Given the description of an element on the screen output the (x, y) to click on. 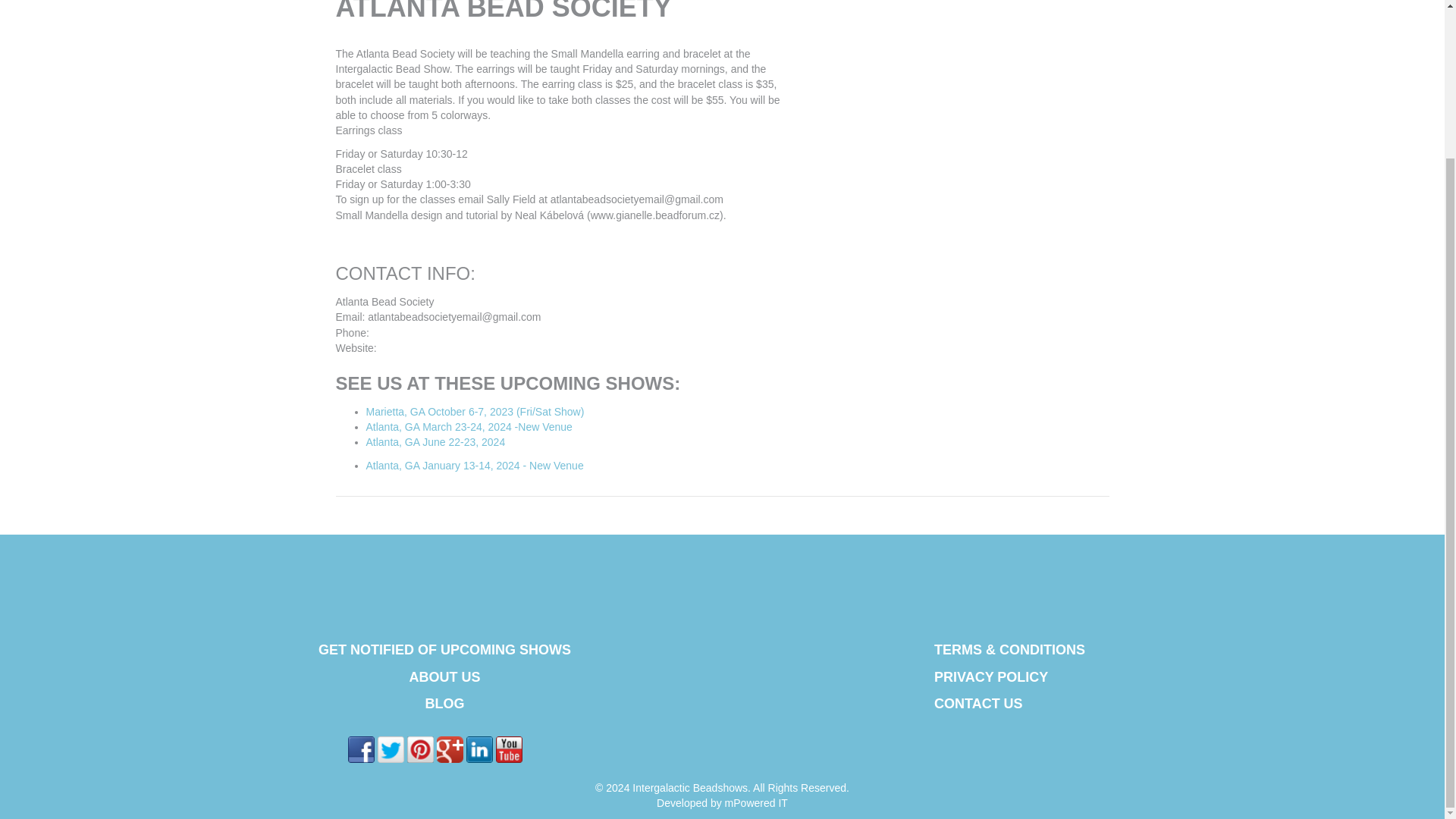
Pinterest (420, 749)
Twitter (390, 749)
Facebook (360, 749)
PRIVACY POLICY (991, 676)
LinkedIn (479, 749)
ABOUT US (444, 676)
Developed by mPowered IT (721, 802)
GET NOTIFIED OF UPCOMING SHOWS (444, 649)
